Given the description of an element on the screen output the (x, y) to click on. 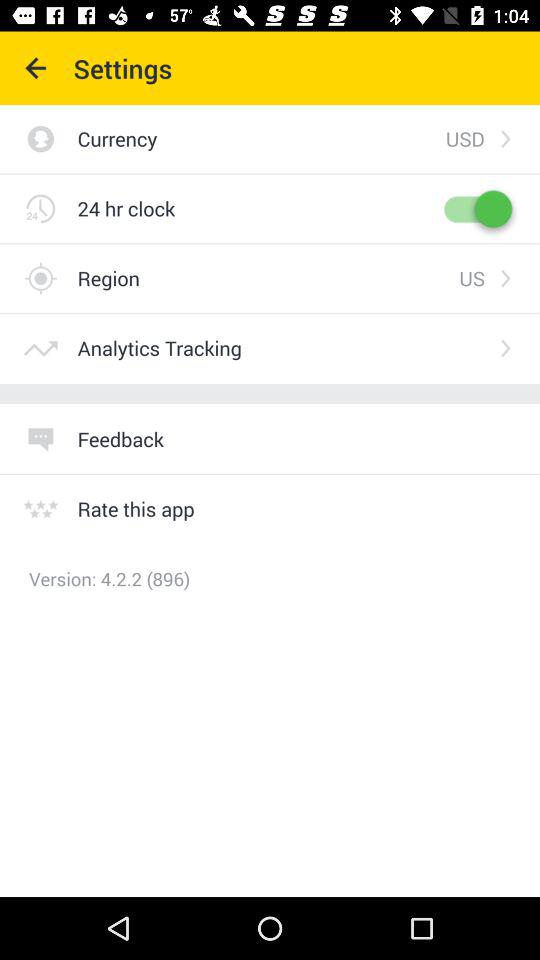
turn on usd (464, 138)
